Given the description of an element on the screen output the (x, y) to click on. 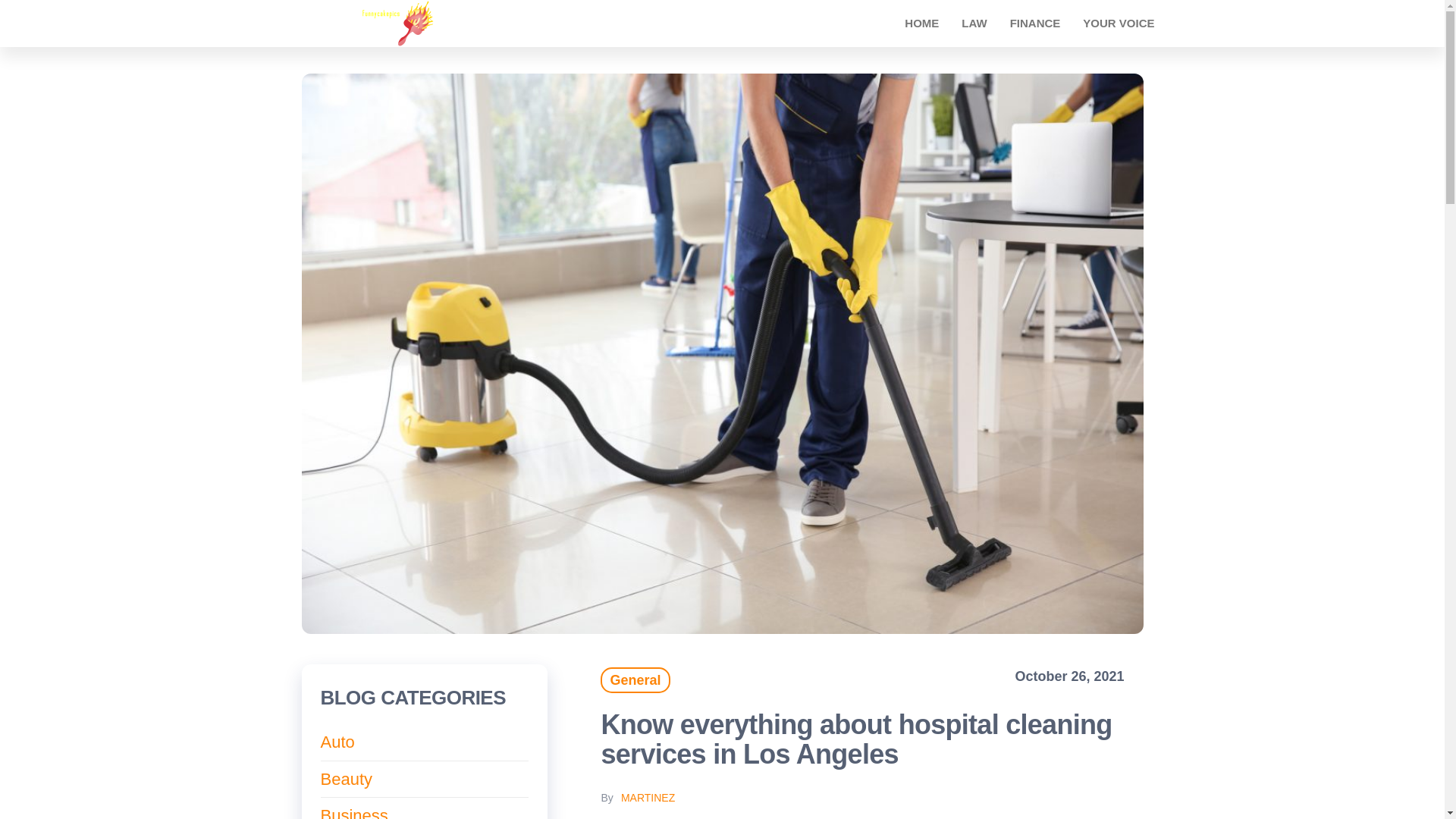
General (634, 679)
LAW (973, 22)
Your voice (1118, 22)
Home (921, 22)
Auto (336, 741)
Business (353, 812)
MARTINEZ (648, 797)
HOME (921, 22)
YOUR VOICE (1118, 22)
Law (973, 22)
Finance (1034, 22)
Beauty (346, 778)
FINANCE (1034, 22)
